Given the description of an element on the screen output the (x, y) to click on. 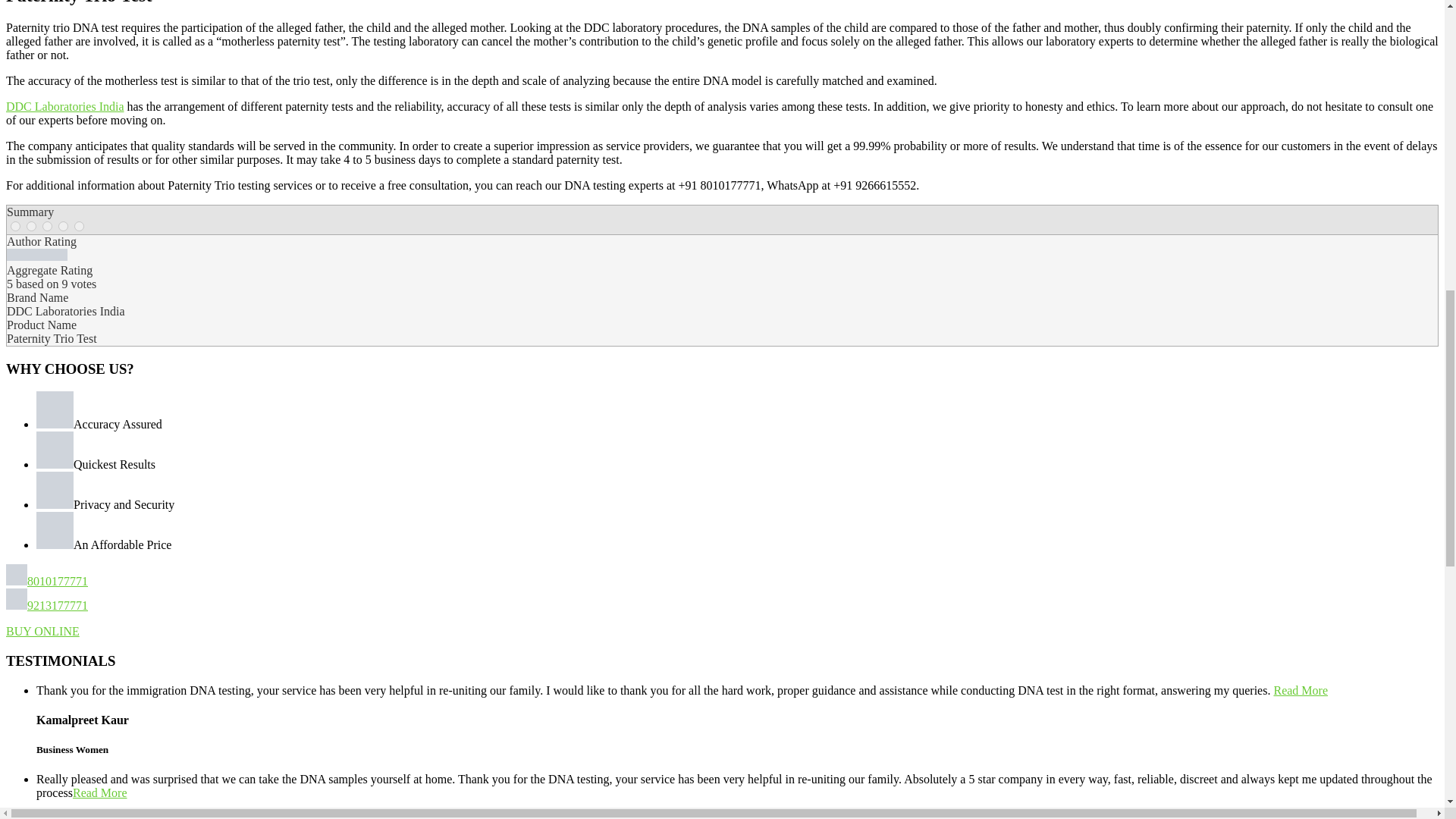
BUY ONLINE (42, 631)
1 (15, 225)
4 (63, 225)
DDC Laboratories India (64, 106)
9213177771 (46, 604)
Read More (1299, 689)
Read More (100, 792)
2 (31, 225)
8010177771 (46, 581)
5 (79, 225)
